Given the description of an element on the screen output the (x, y) to click on. 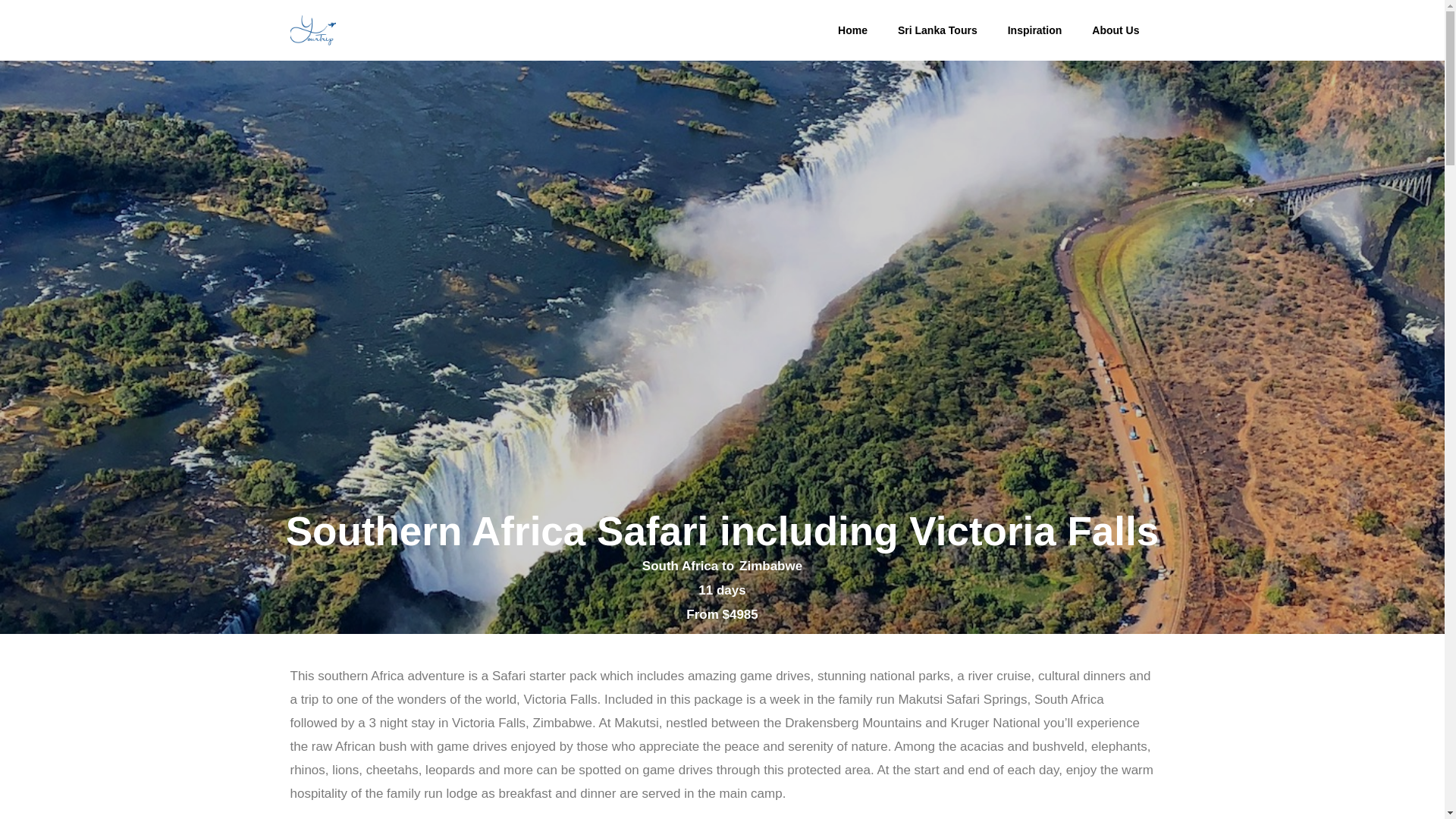
About Us (1115, 30)
Sri Lanka Tours (937, 30)
Home (852, 30)
Inspiration (1034, 30)
